Given the description of an element on the screen output the (x, y) to click on. 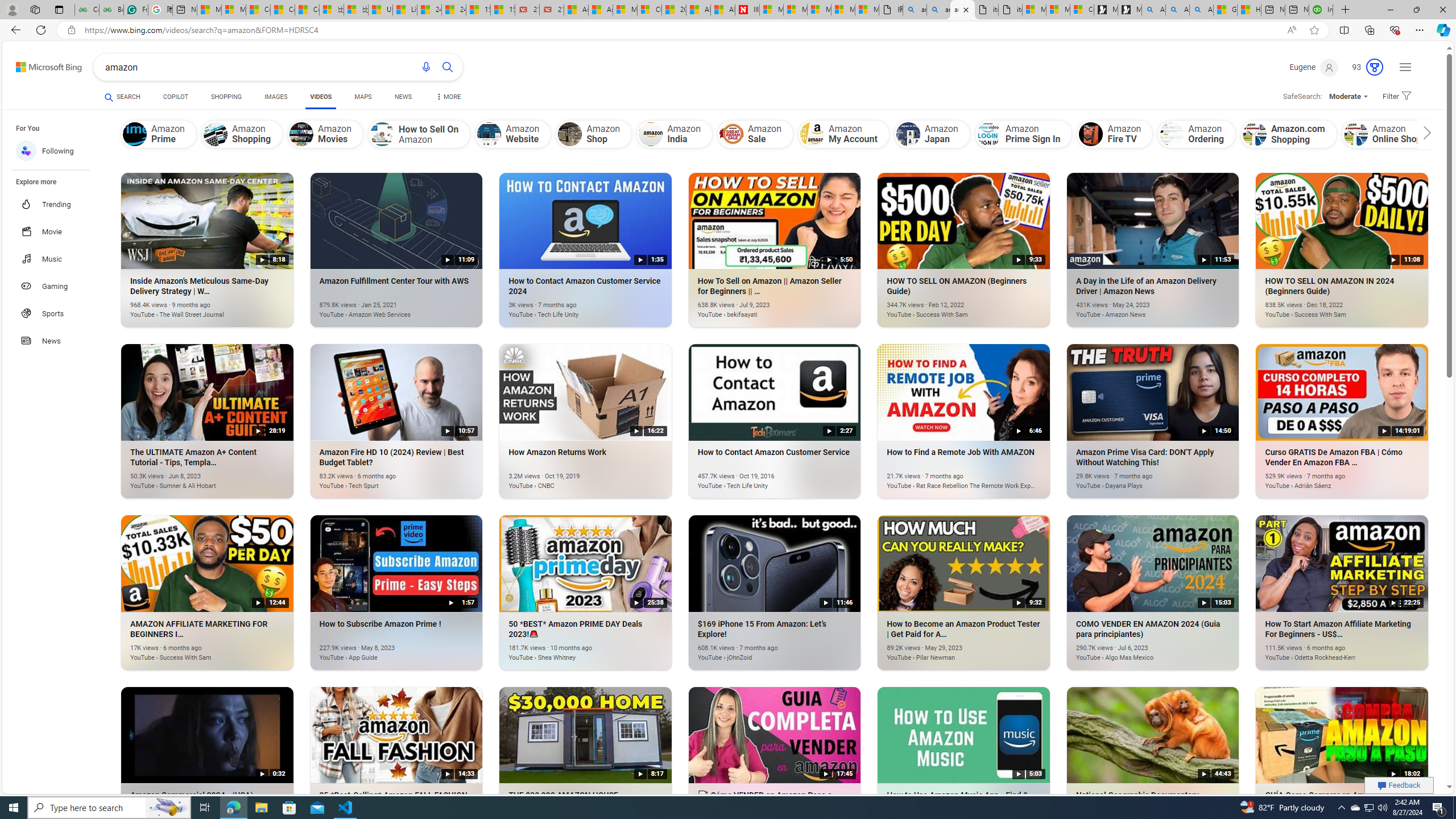
Amazon Movies (301, 133)
SEARCH (122, 96)
Amazon.com Shopping (1288, 134)
Amazon Fulfillment Center Tour with AWS (379, 308)
Amazon Online Shopping (1395, 134)
Search button (447, 66)
How to Use a TV as a Computer Monitor (1248, 9)
Amazon Movies (326, 134)
Class: item col (1395, 134)
21 Movies That Outdid the Books They Were Based On (551, 9)
COPILOT (175, 96)
